Given the description of an element on the screen output the (x, y) to click on. 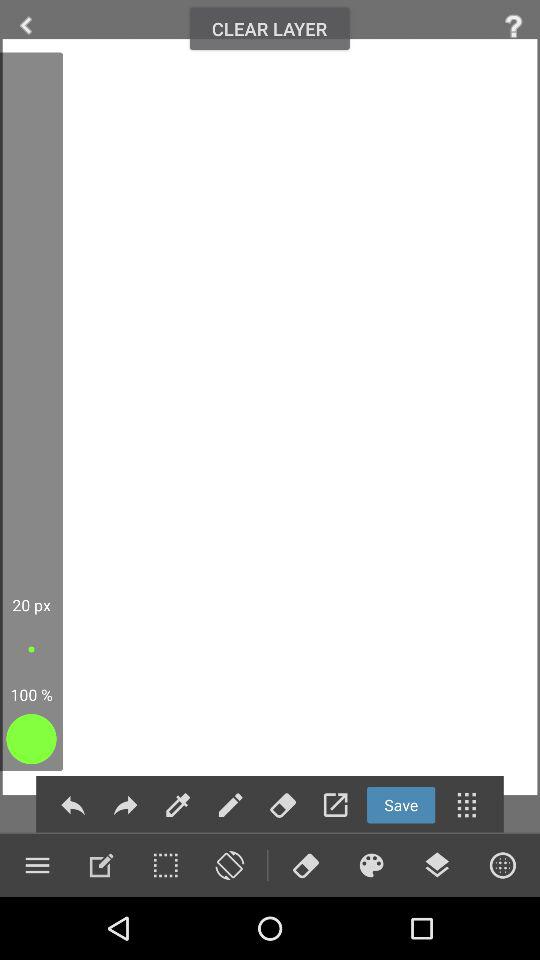
note box (101, 865)
